Given the description of an element on the screen output the (x, y) to click on. 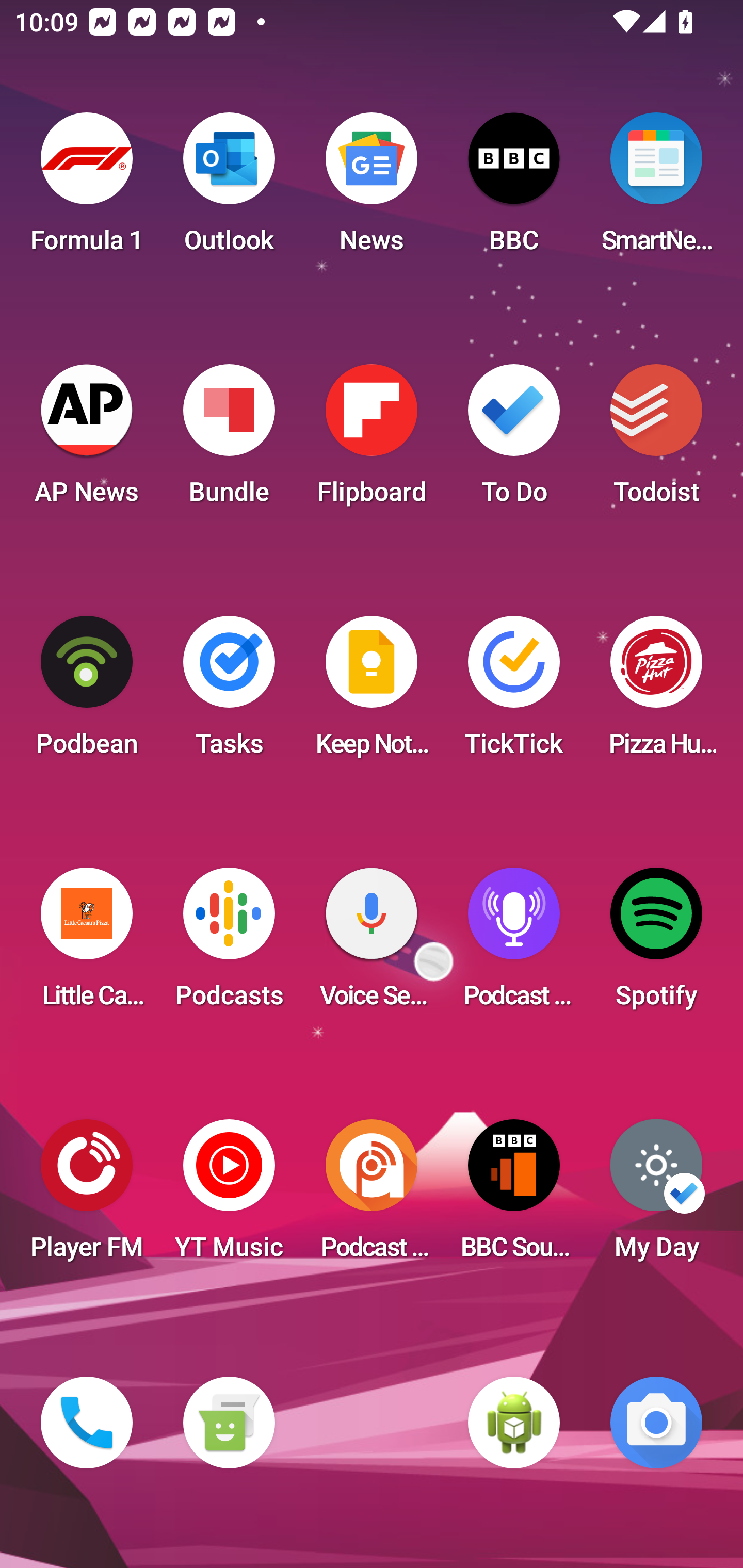
Formula 1 (86, 188)
Outlook (228, 188)
News (371, 188)
BBC (513, 188)
SmartNews (656, 188)
AP News (86, 440)
Bundle (228, 440)
Flipboard (371, 440)
To Do (513, 440)
Todoist (656, 440)
Podbean (86, 692)
Tasks (228, 692)
Keep Notes (371, 692)
TickTick (513, 692)
Pizza Hut HK & Macau (656, 692)
Little Caesars Pizza (86, 943)
Podcasts (228, 943)
Voice Search (371, 943)
Podcast Player (513, 943)
Spotify (656, 943)
Player FM (86, 1195)
YT Music (228, 1195)
Podcast Addict (371, 1195)
BBC Sounds (513, 1195)
My Day (656, 1195)
Phone (86, 1422)
Messaging (228, 1422)
WebView Browser Tester (513, 1422)
Camera (656, 1422)
